Given the description of an element on the screen output the (x, y) to click on. 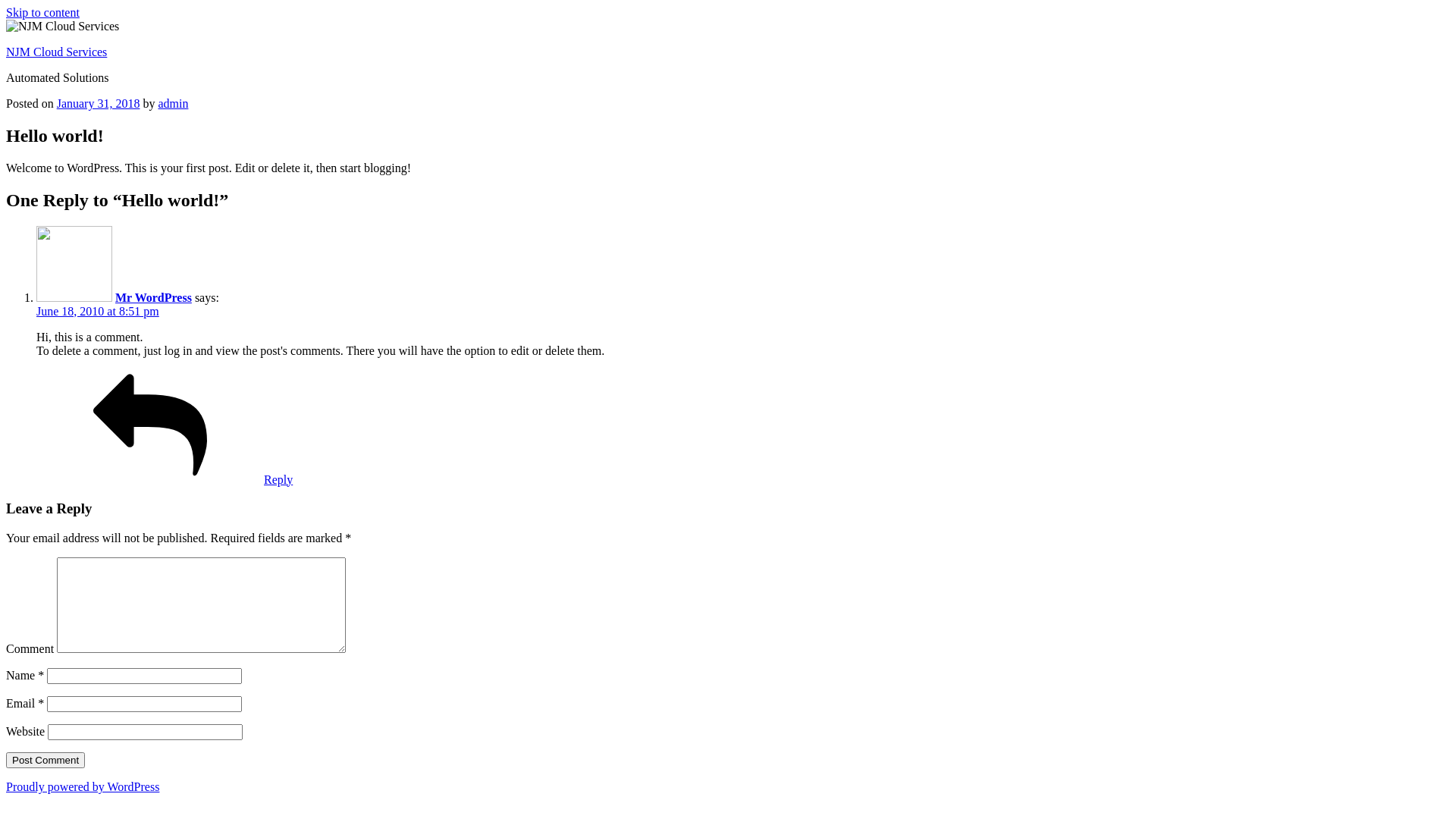
Mr WordPress Element type: text (153, 297)
June 18, 2010 at 8:51 pm Element type: text (97, 310)
admin Element type: text (172, 103)
January 31, 2018 Element type: text (98, 103)
NJM Cloud Services Element type: text (56, 51)
Proudly powered by WordPress Element type: text (82, 786)
Skip to content Element type: text (42, 12)
Post Comment Element type: text (45, 760)
Reply Element type: text (164, 479)
